Given the description of an element on the screen output the (x, y) to click on. 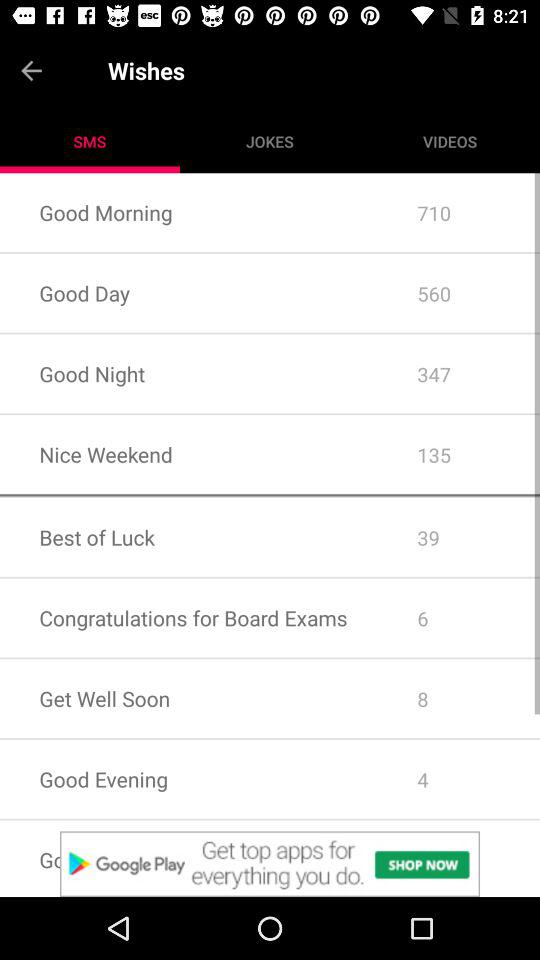
open the good week item (188, 858)
